Given the description of an element on the screen output the (x, y) to click on. 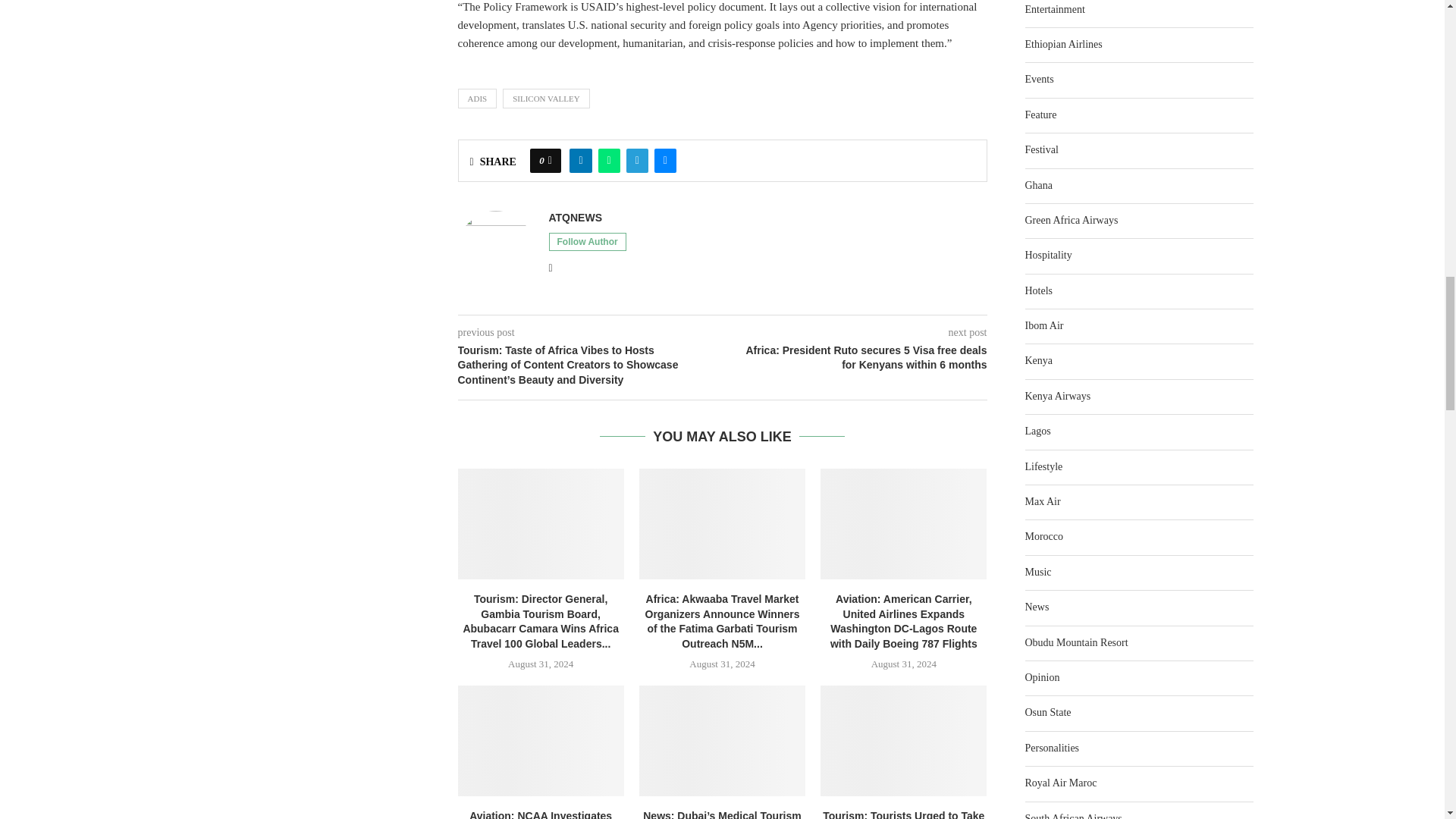
Author Atqnews (575, 217)
